Given the description of an element on the screen output the (x, y) to click on. 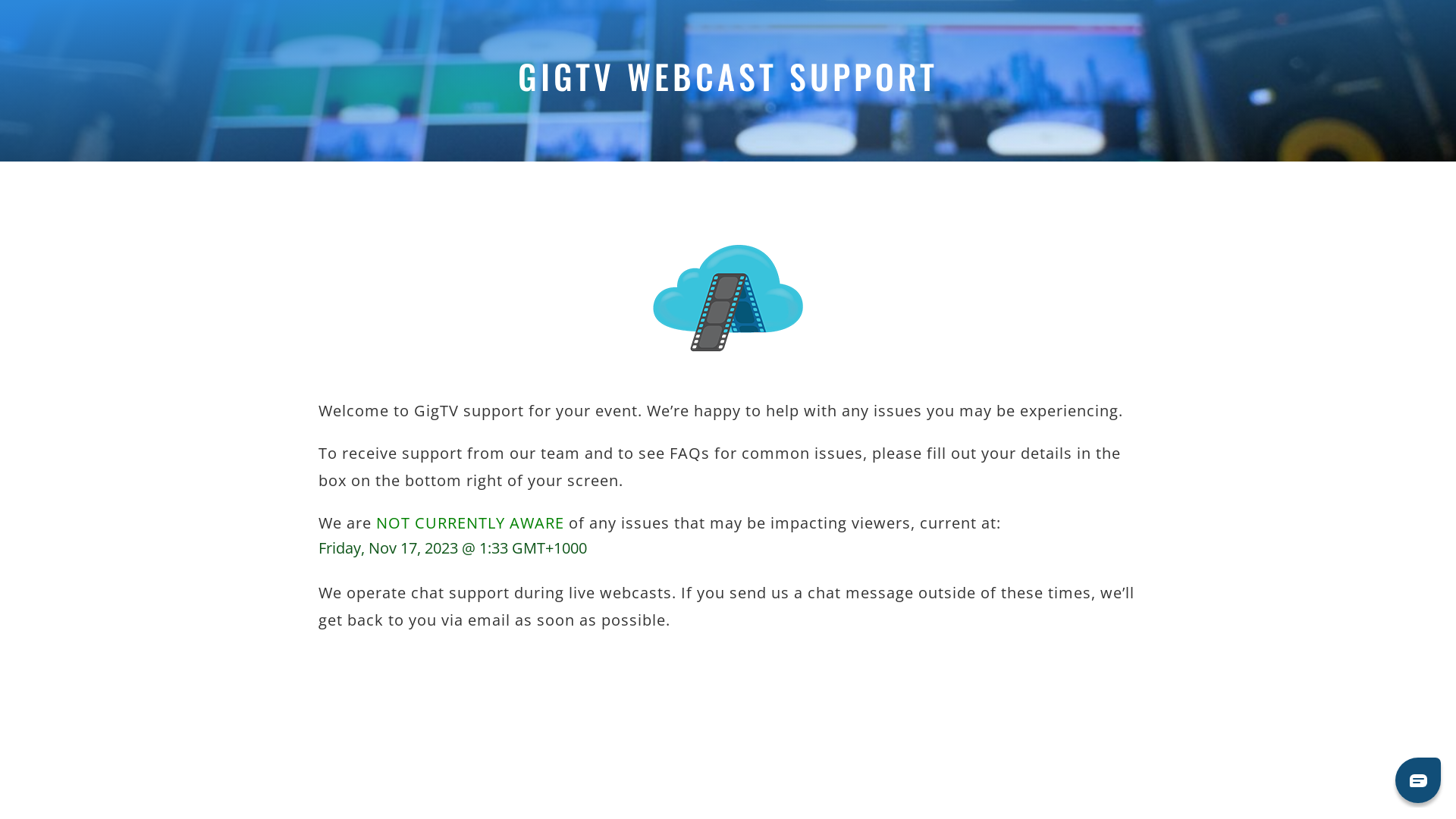
Chat Element type: hover (1417, 778)
jpl-media-cloud-logo-200x200 Element type: hover (727, 298)
